Given the description of an element on the screen output the (x, y) to click on. 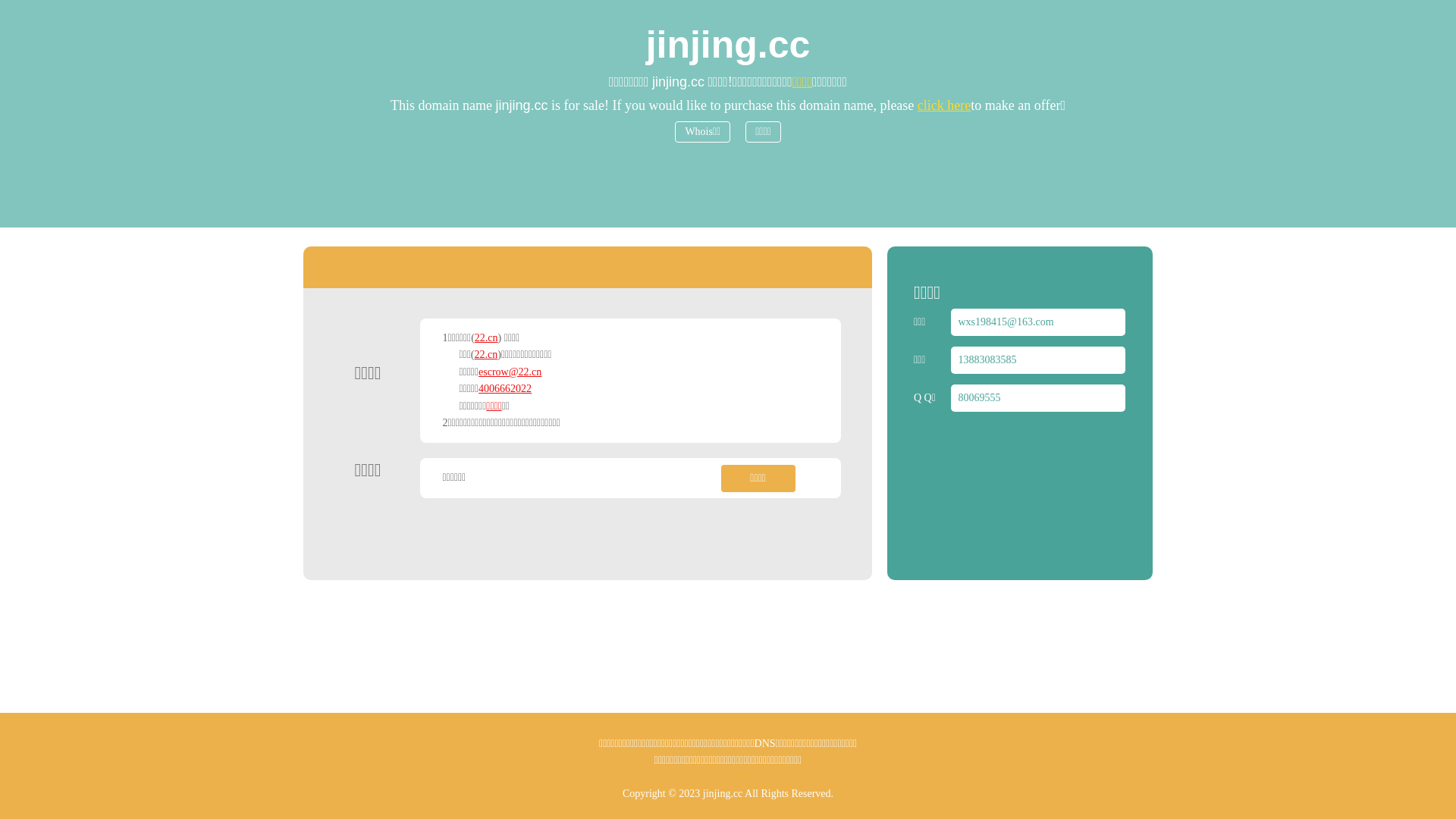
22.cn Element type: text (486, 337)
escrow@22.cn Element type: text (509, 371)
22.cn Element type: text (486, 354)
click here Element type: text (943, 104)
4006662022 Element type: text (504, 388)
